Given the description of an element on the screen output the (x, y) to click on. 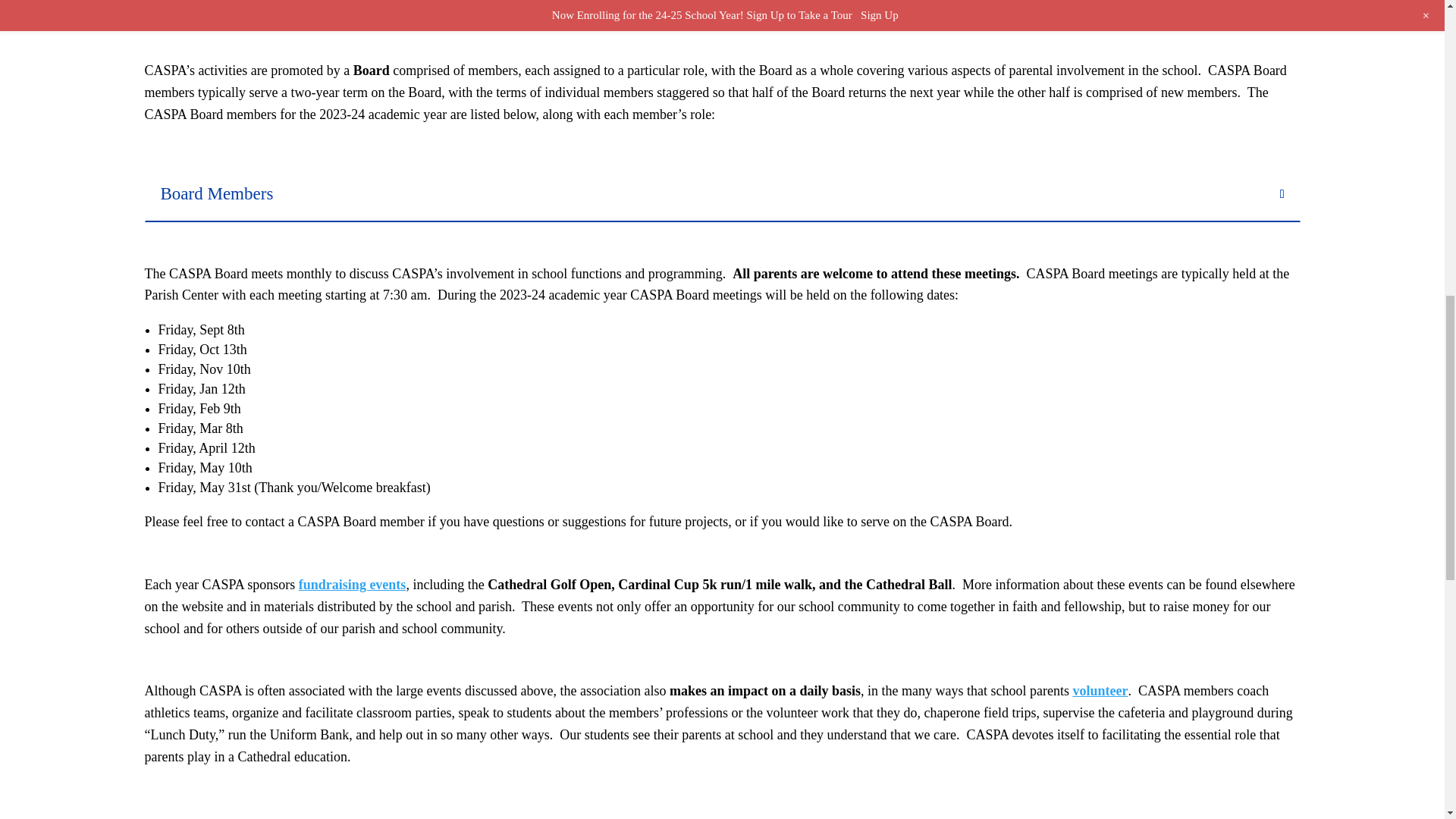
CASPA-Chick-fil-a (417, 12)
